Given the description of an element on the screen output the (x, y) to click on. 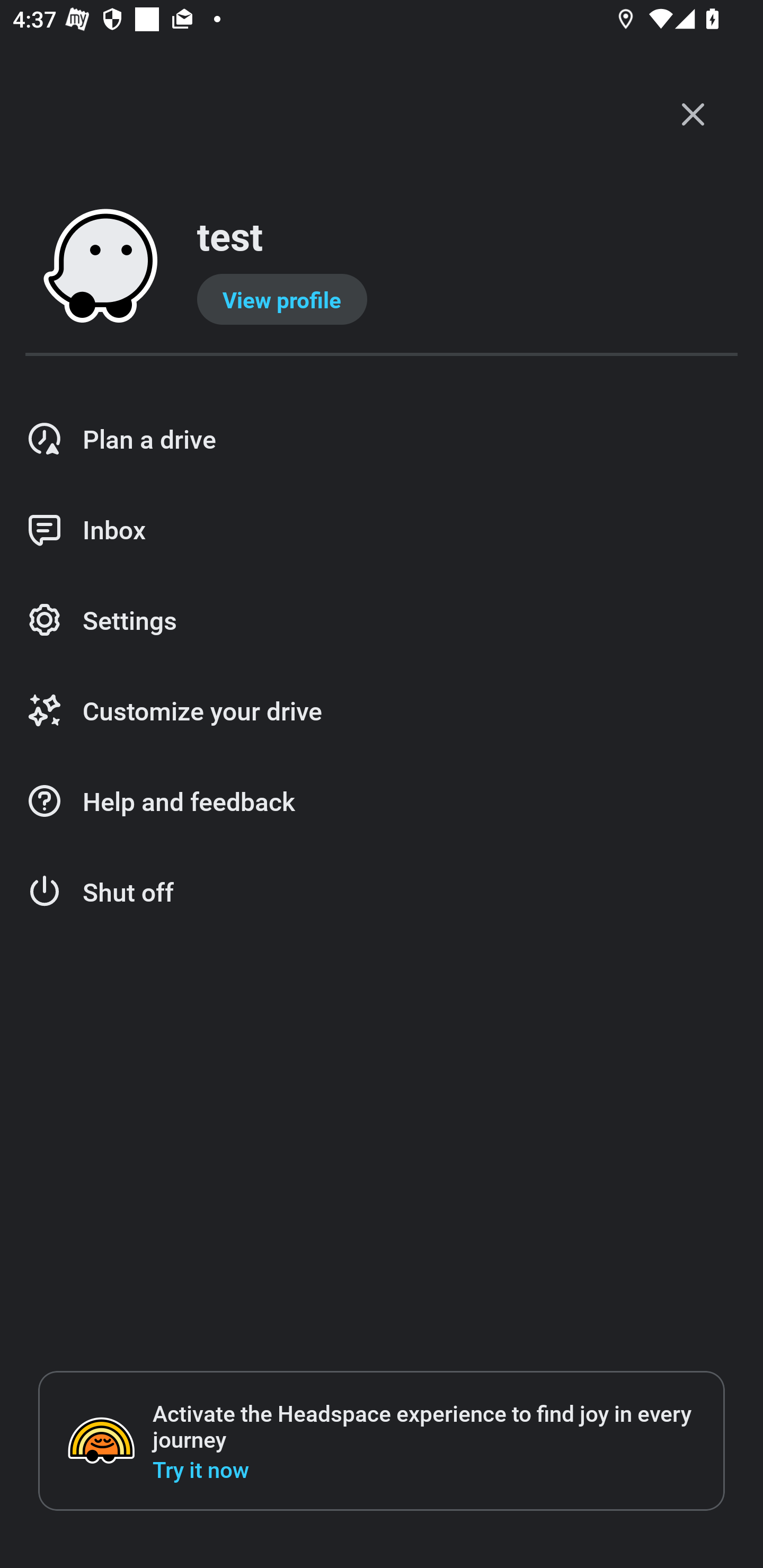
test View profile (381, 266)
View profile (281, 299)
ACTION_CELL_ICON Plan a drive ACTION_CELL_TEXT (381, 438)
ACTION_CELL_ICON Inbox ACTION_CELL_TEXT (381, 529)
ACTION_CELL_ICON Settings ACTION_CELL_TEXT (381, 620)
ACTION_CELL_ICON Shut off ACTION_CELL_TEXT (381, 891)
